Given the description of an element on the screen output the (x, y) to click on. 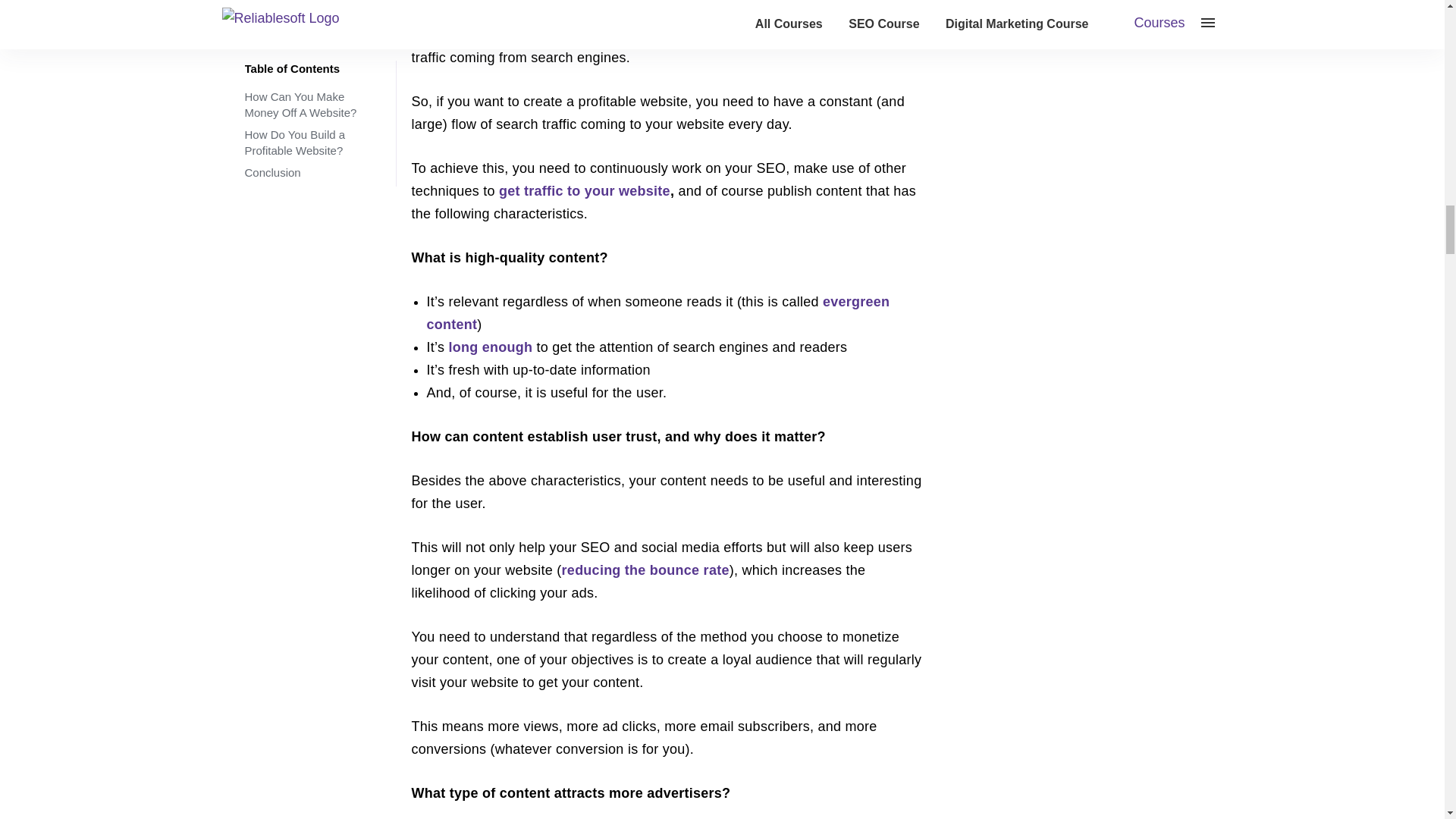
get traffic to your website (584, 191)
long enough (490, 346)
reducing the bounce rate (645, 570)
evergreen content (657, 313)
